Given the description of an element on the screen output the (x, y) to click on. 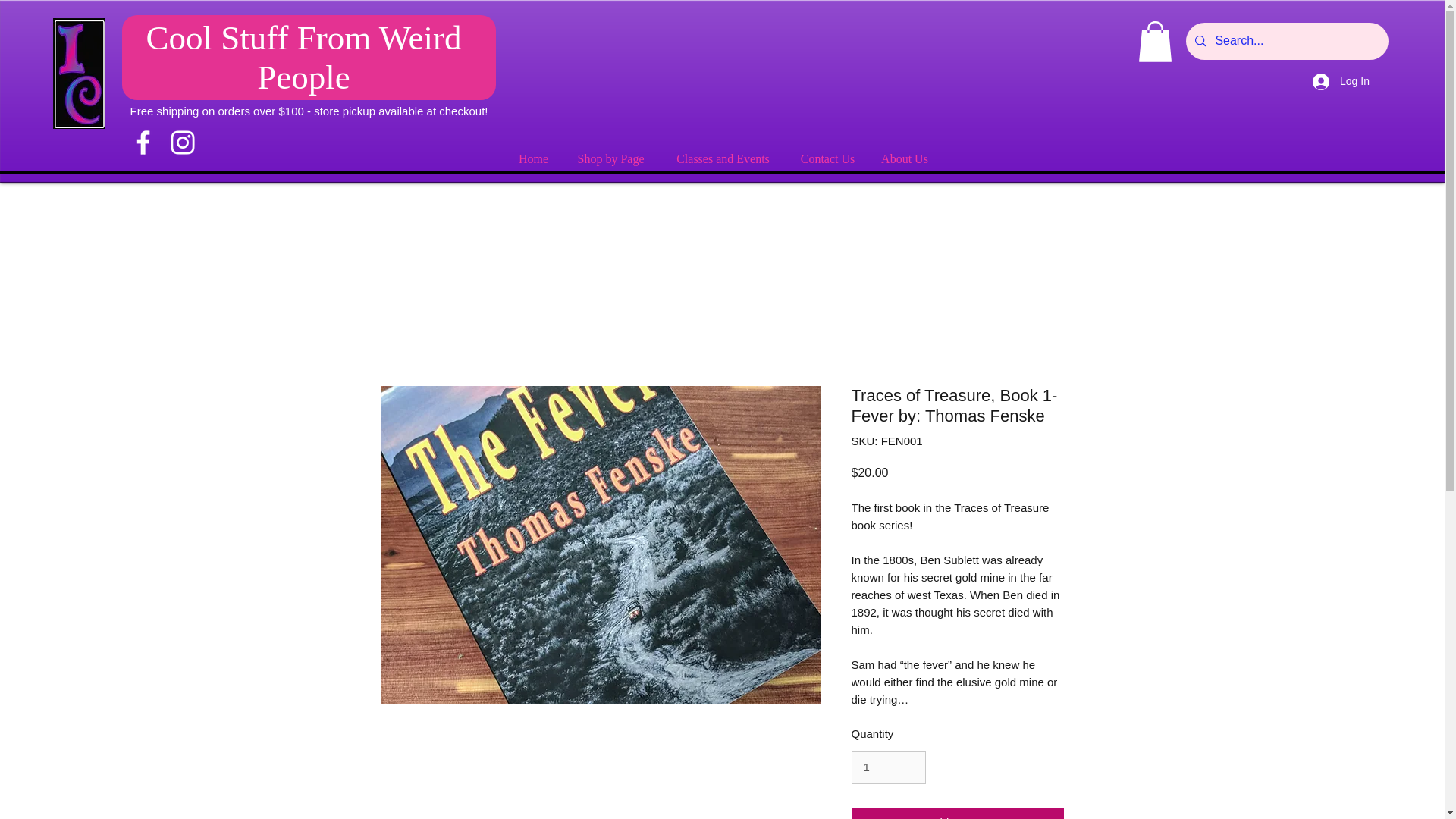
Classes and Events (722, 159)
1 (887, 767)
Log In (1337, 81)
Contact Us (826, 159)
Add to Cart (956, 813)
About Us (903, 159)
Shop by Page (610, 159)
Home (532, 159)
